Given the description of an element on the screen output the (x, y) to click on. 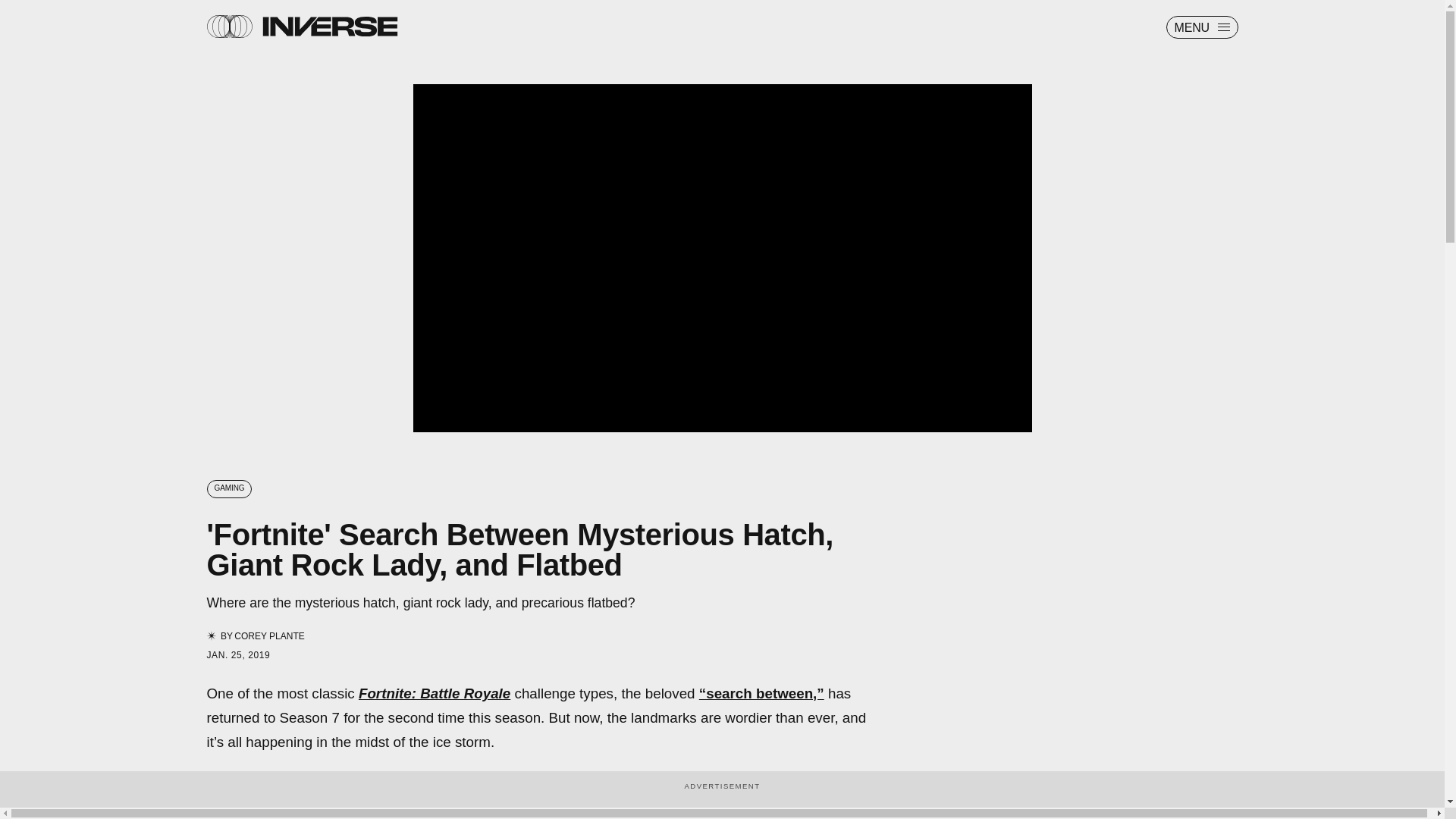
Fortnite: Battle Royale (434, 693)
Inverse (328, 26)
COREY PLANTE (269, 635)
